Given the description of an element on the screen output the (x, y) to click on. 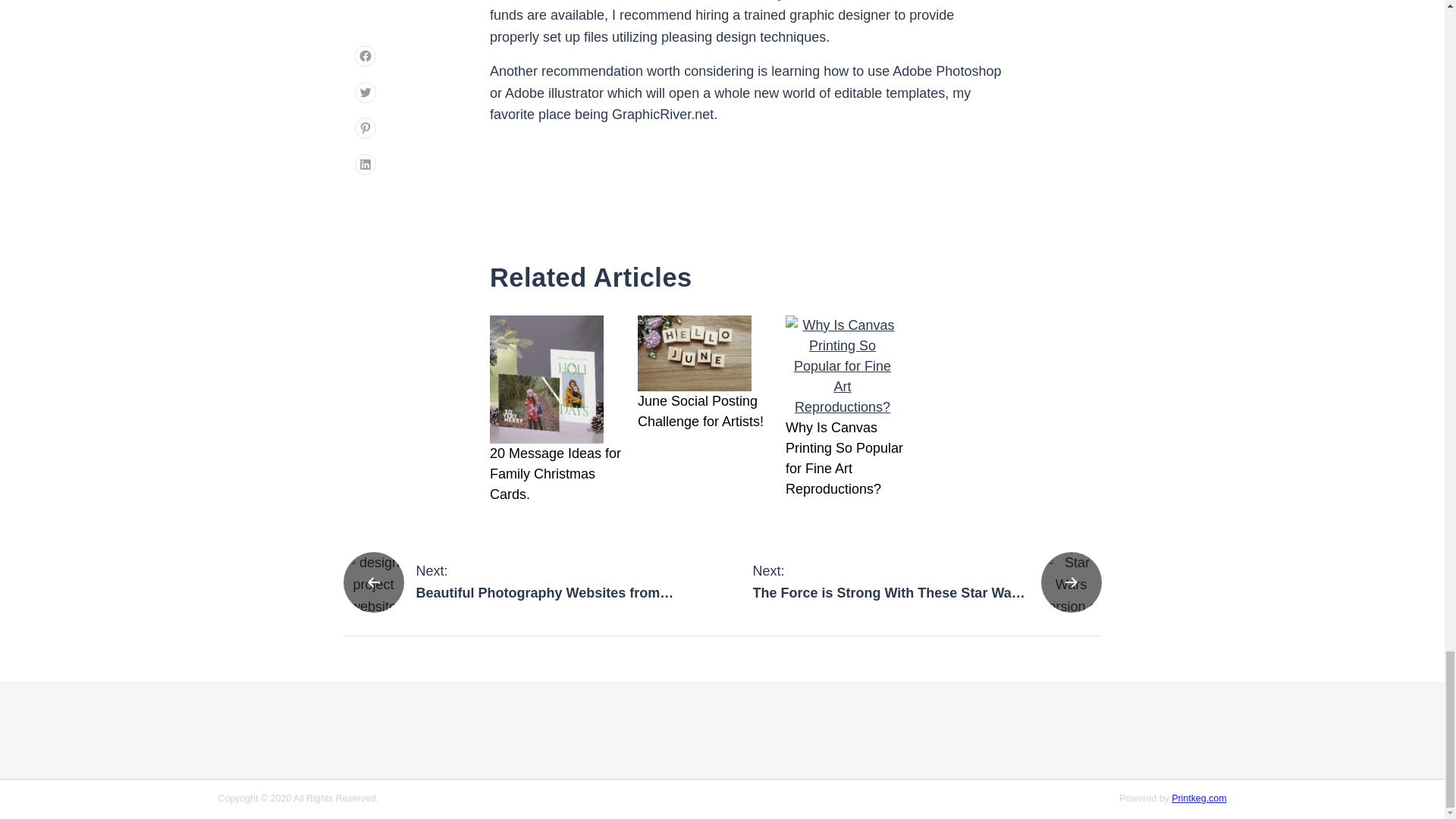
June Social Posting Challenge for Artists! (516, 582)
20 Message Ideas for Family Christmas Cards. (705, 411)
